Given the description of an element on the screen output the (x, y) to click on. 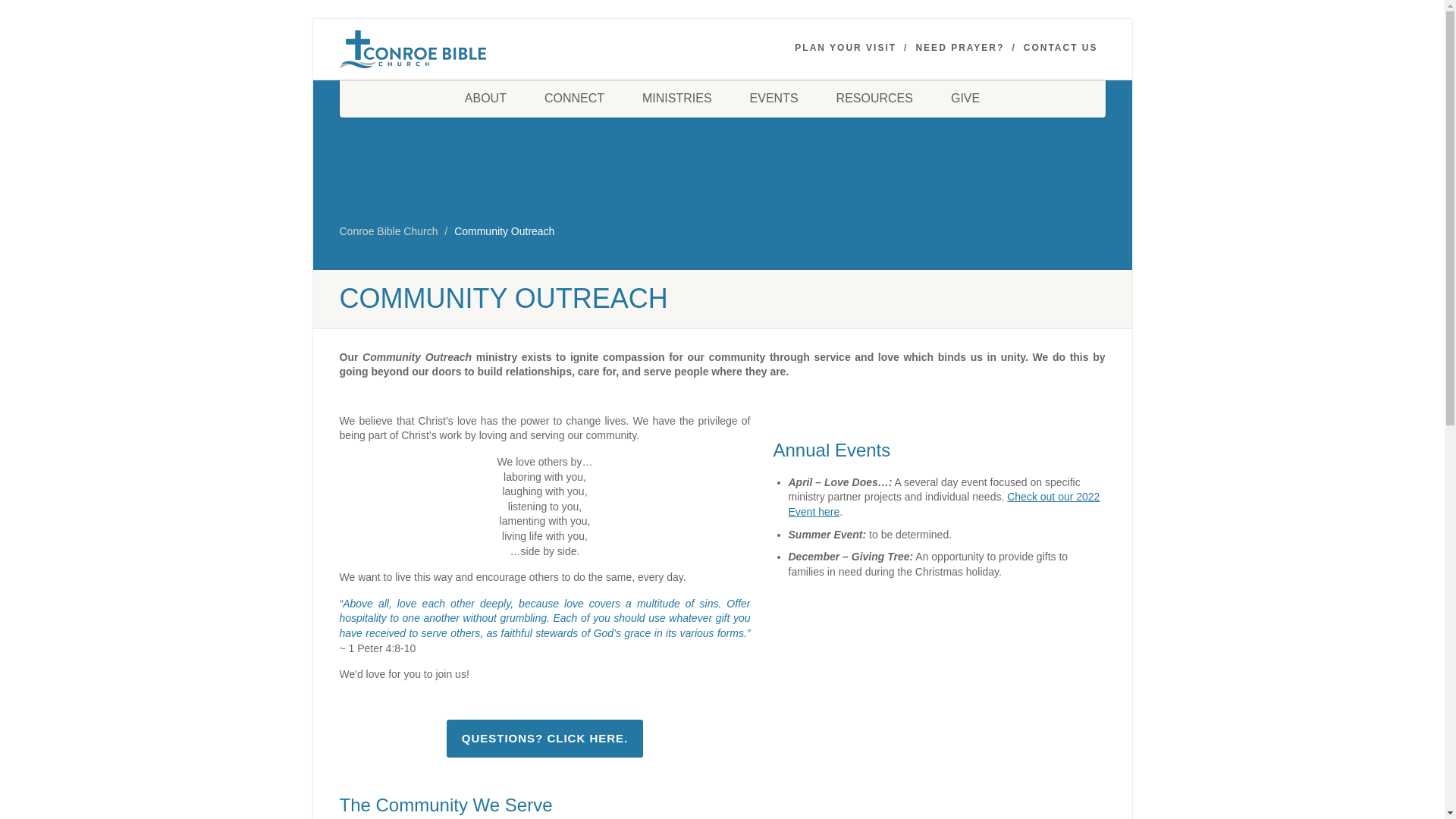
CONTACT US (1060, 47)
RESOURCES (873, 98)
MINISTRIES (676, 98)
PLAN YOUR VISIT (845, 47)
Go to Conroe Bible Church. (388, 231)
ABOUT (485, 98)
EVENTS (773, 98)
CONNECT (574, 98)
NEED PRAYER? (959, 47)
Conroe Bible Church (459, 48)
